Given the description of an element on the screen output the (x, y) to click on. 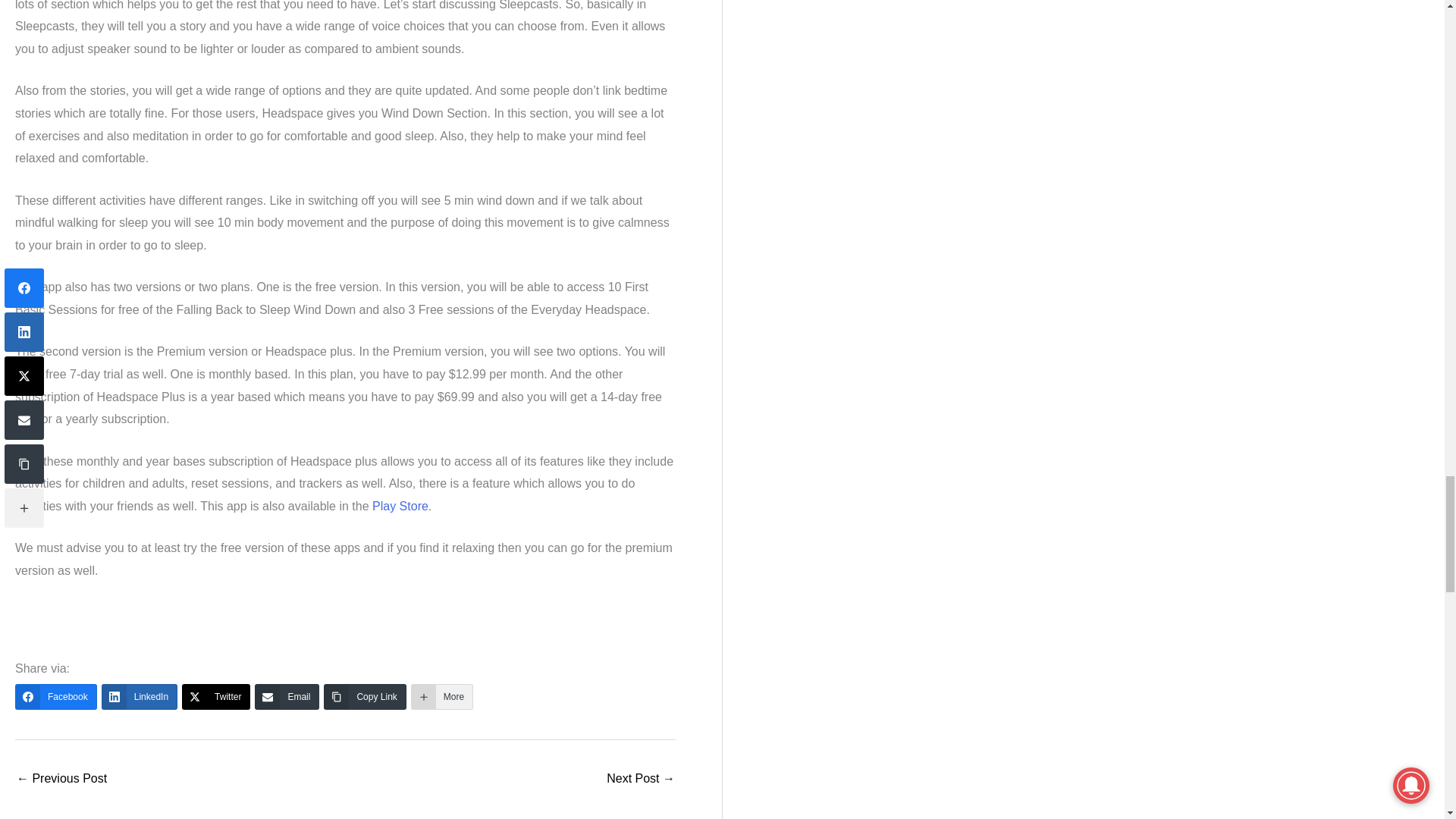
Email (286, 696)
Play Store (400, 505)
Facebook (55, 696)
2 Best Video Streaming Services that Pays Off Your Money (61, 779)
Twitter (216, 696)
LinkedIn (139, 696)
4 Best Wireless Chargers for Android Phones (641, 779)
